Given the description of an element on the screen output the (x, y) to click on. 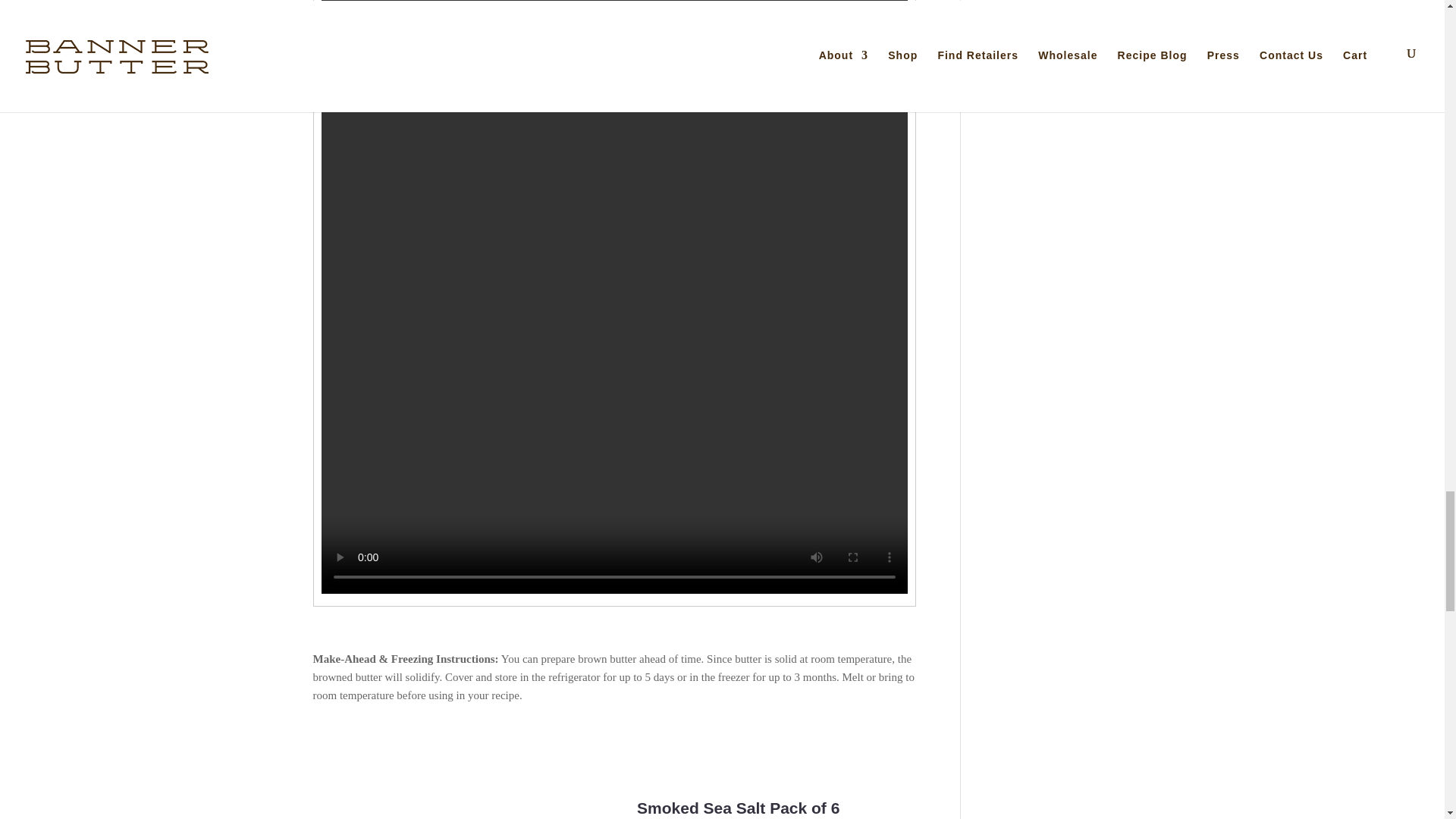
Smoked Sea Salt Pack of 6 (738, 807)
